Given the description of an element on the screen output the (x, y) to click on. 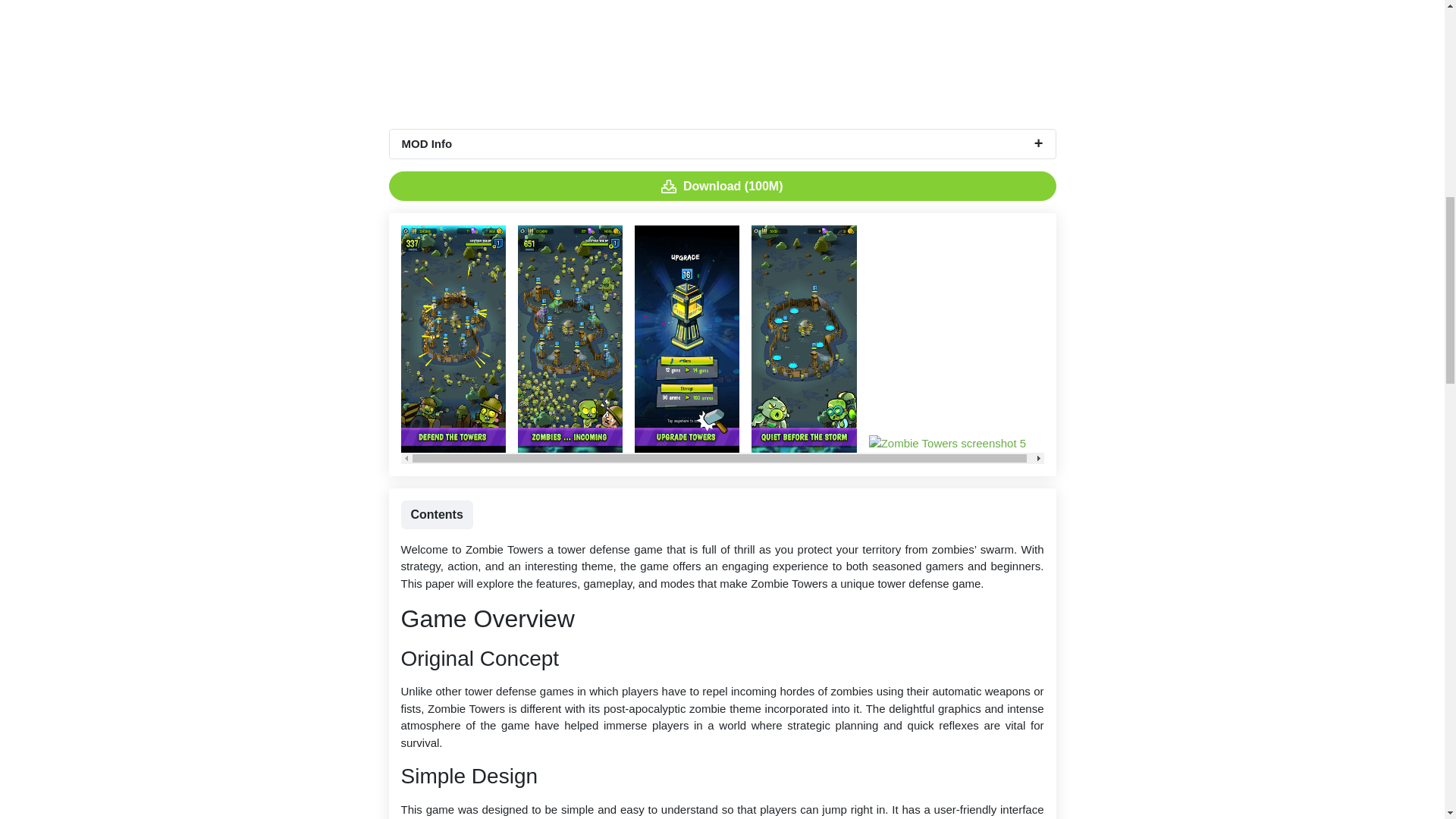
Advertisement (721, 64)
Contents (435, 514)
MOD Info (722, 143)
